Given the description of an element on the screen output the (x, y) to click on. 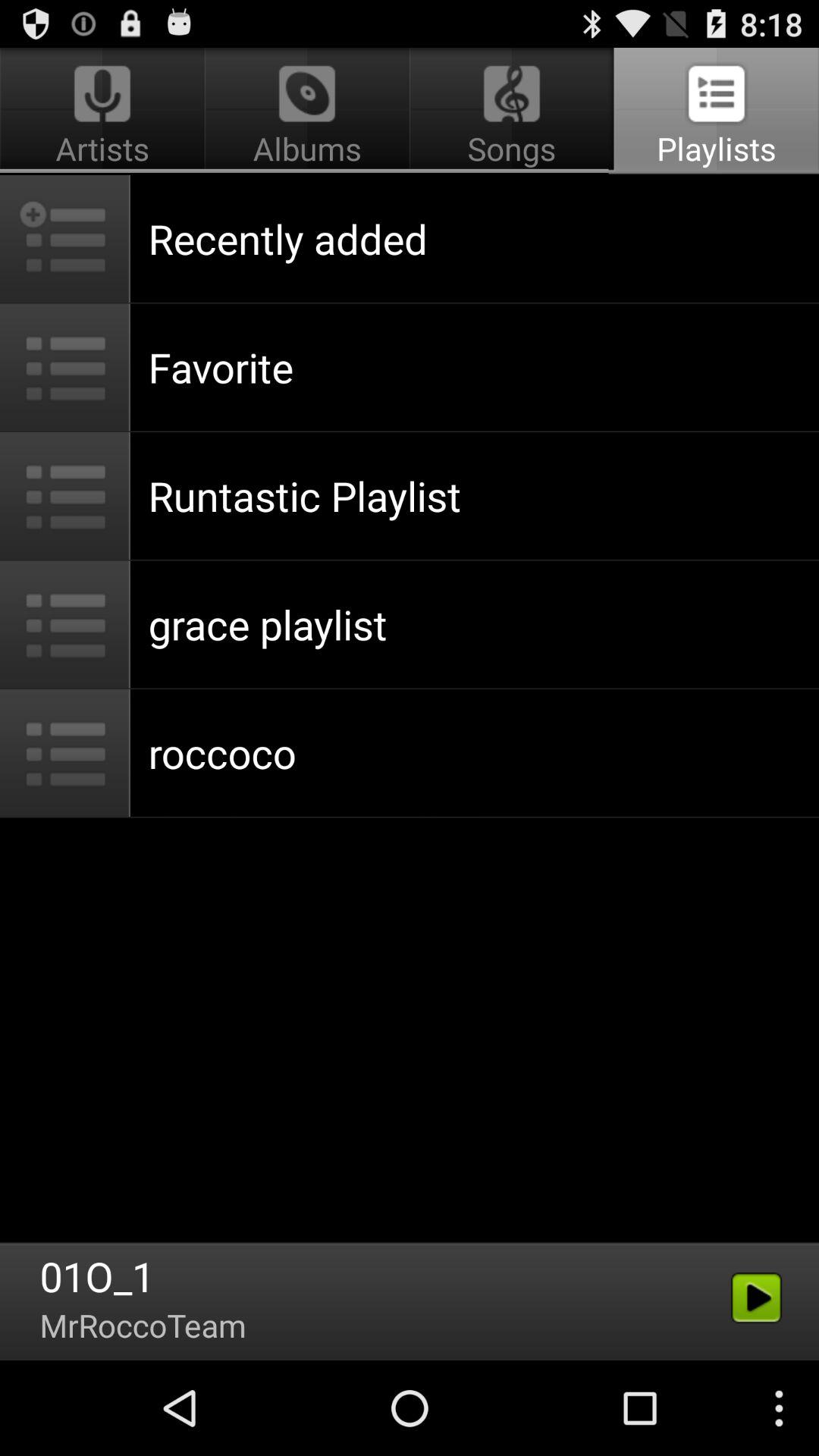
swipe until the songs item (511, 111)
